Given the description of an element on the screen output the (x, y) to click on. 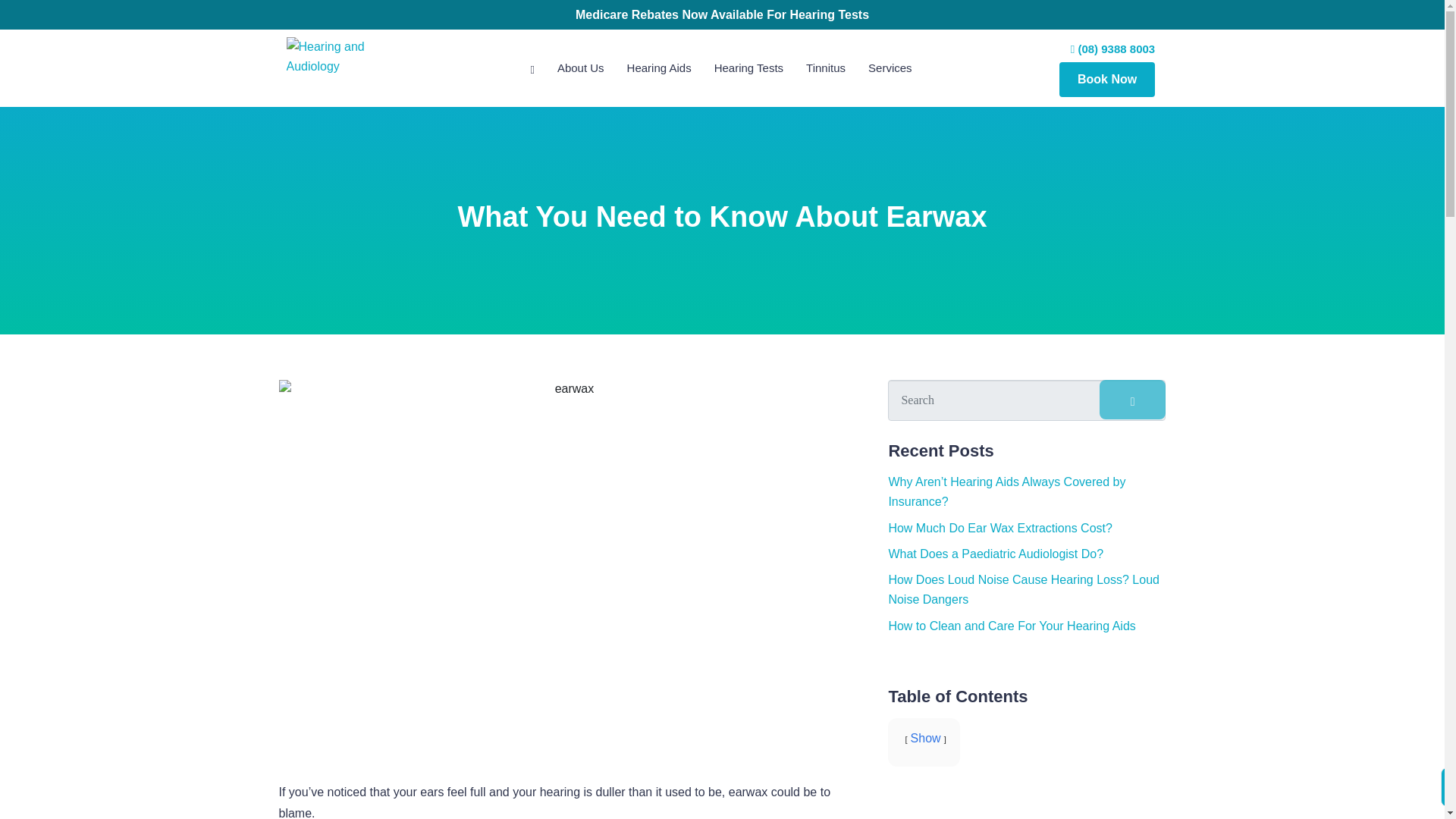
Hearing Tests (748, 67)
Services (889, 67)
About Us (580, 67)
Hearing Aids (659, 67)
Tinnitus (825, 67)
